Given the description of an element on the screen output the (x, y) to click on. 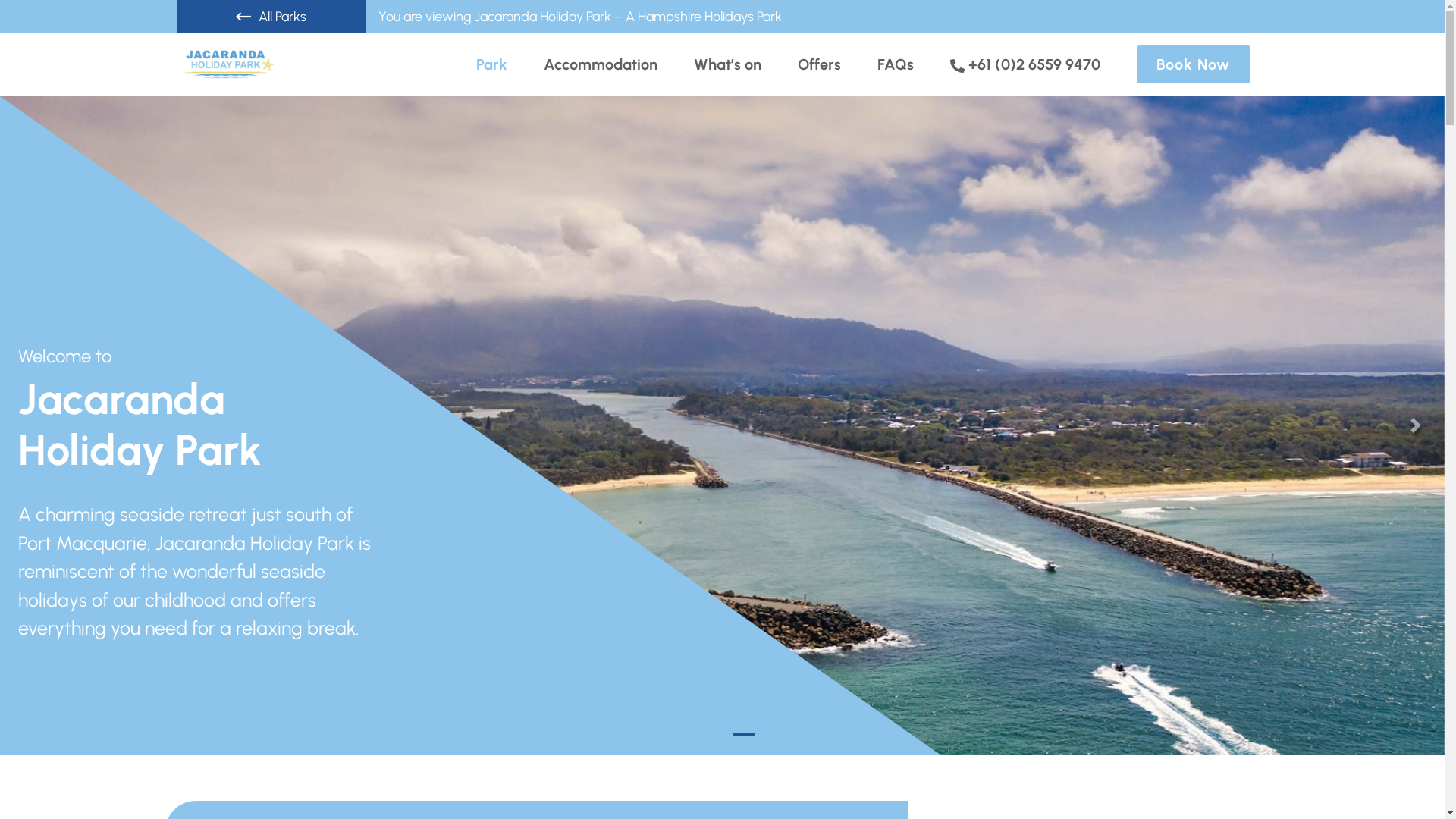
Book Now Element type: text (1192, 64)
Offers Element type: text (818, 64)
Accommodation Element type: text (600, 64)
Park Element type: text (491, 64)
All Parks Element type: text (270, 16)
Next Element type: text (1415, 425)
+61 (0)2 6559 9470 Element type: text (1024, 64)
FAQs Element type: text (895, 64)
Previous Element type: text (28, 425)
